Given the description of an element on the screen output the (x, y) to click on. 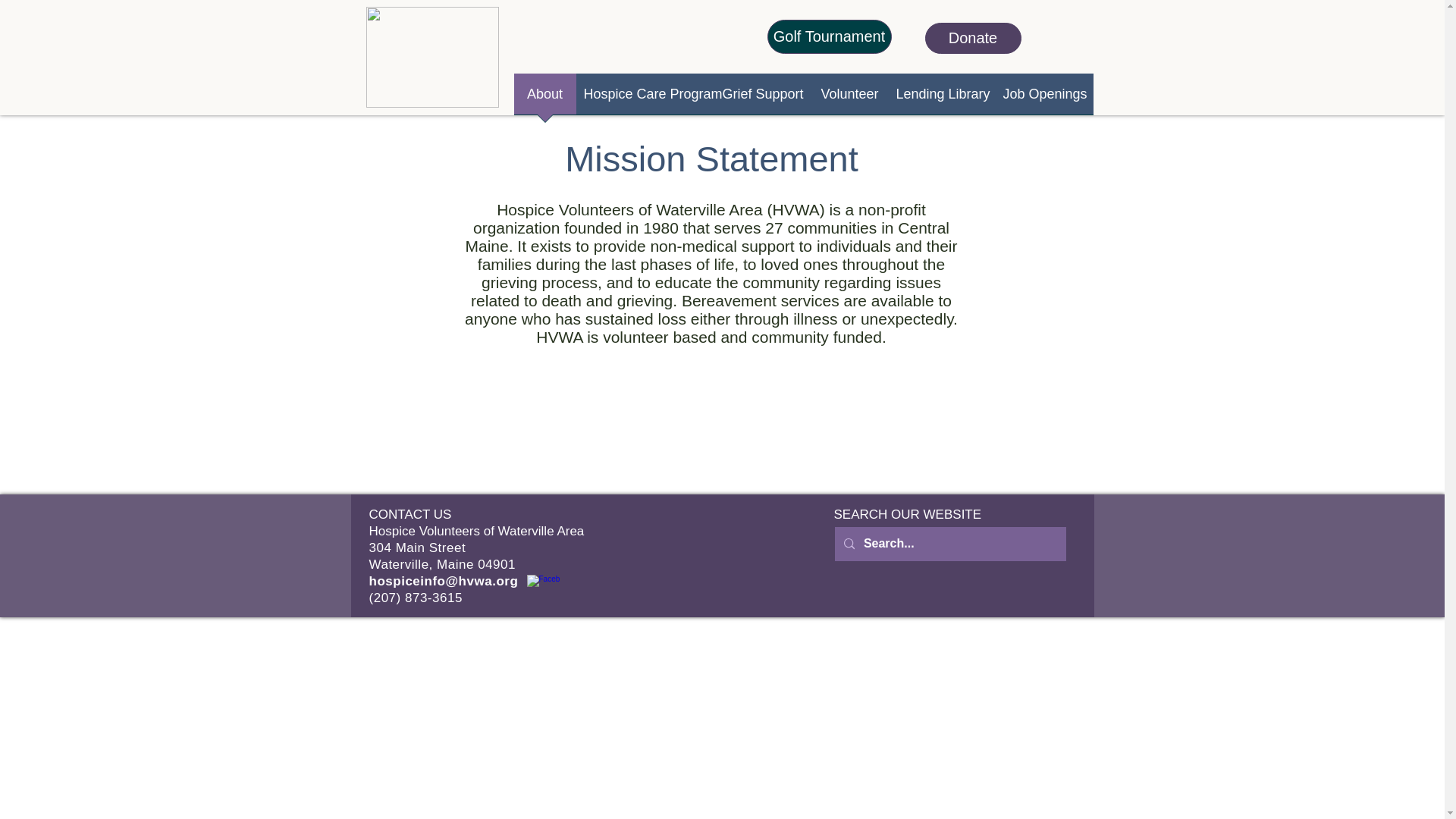
About (544, 98)
Lending Library (941, 98)
Golf Tournament (829, 36)
Job Openings (1043, 98)
Grief Support (762, 98)
Donate (973, 38)
Volunteer (849, 98)
Hospice Care Program (645, 98)
Home (431, 56)
